Given the description of an element on the screen output the (x, y) to click on. 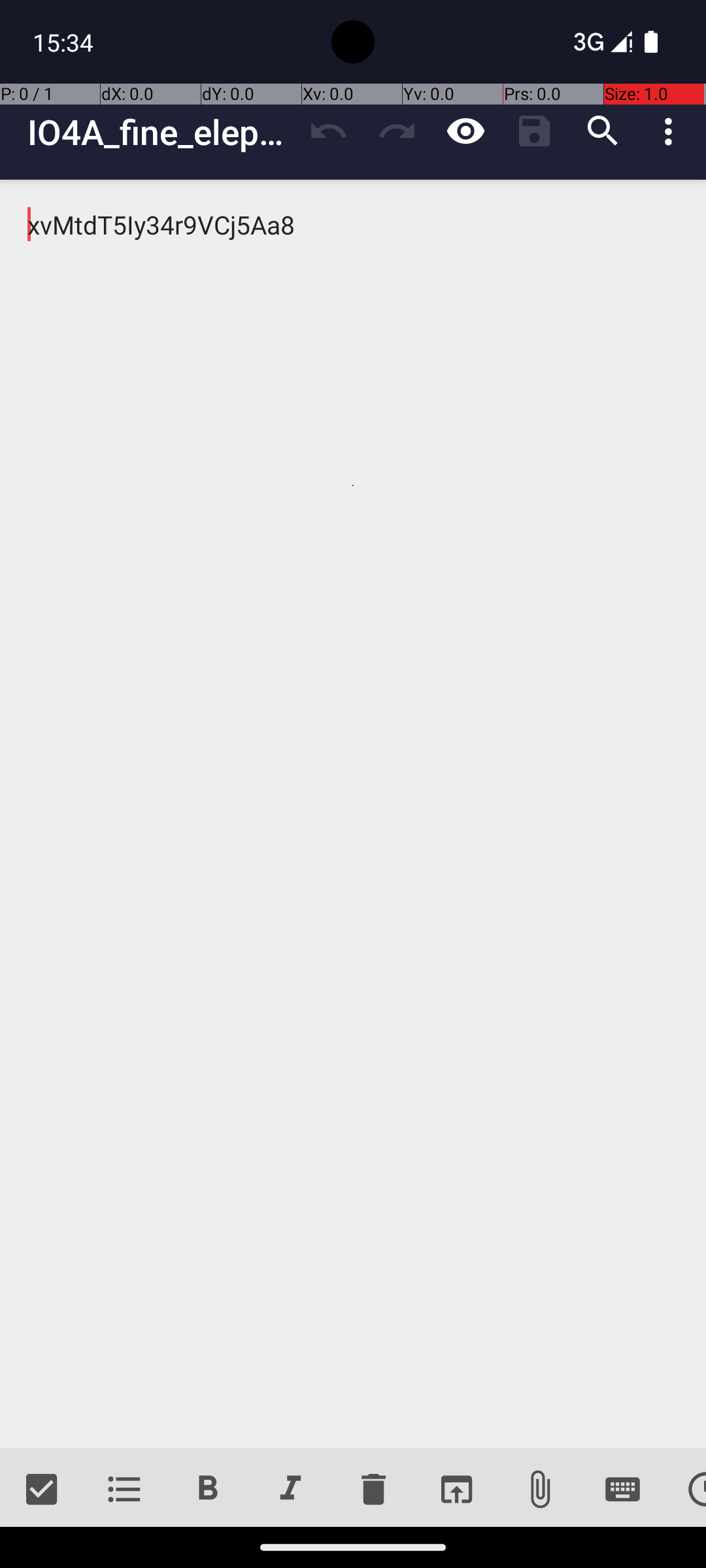
IO4A_fine_elephant Element type: android.widget.TextView (160, 131)
xvMtdT5Iy34r9VCj5Aa8
 Element type: android.widget.EditText (353, 813)
